Given the description of an element on the screen output the (x, y) to click on. 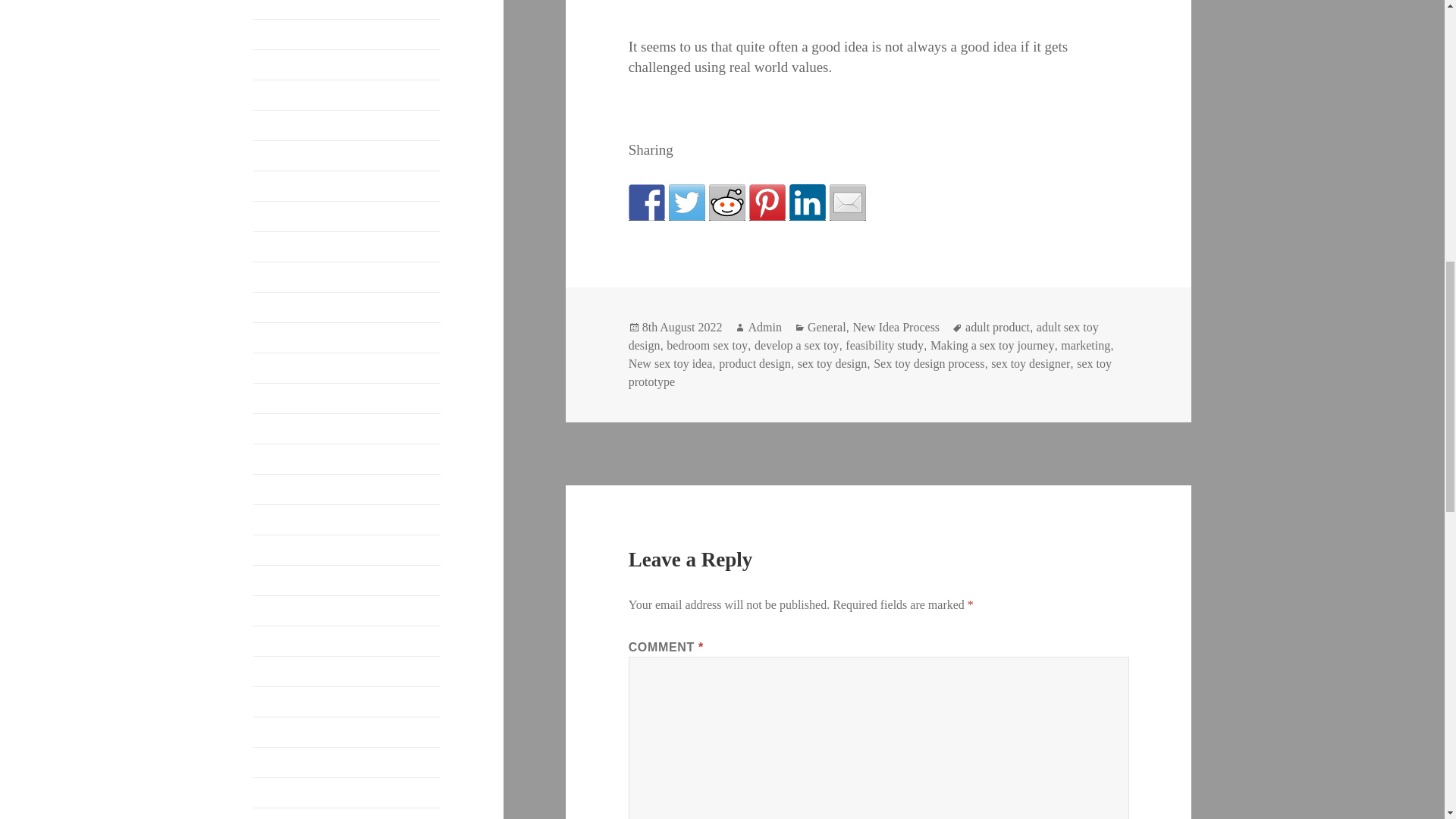
November 2020 (292, 458)
April 2022 (279, 4)
Share on Twitter (686, 202)
January 2021 (285, 397)
March 2022 (283, 33)
Pin it with Pinterest (767, 202)
Share on Reddit (727, 202)
February 2022 (288, 63)
April 2021 (279, 306)
July 2020 (277, 549)
